Given the description of an element on the screen output the (x, y) to click on. 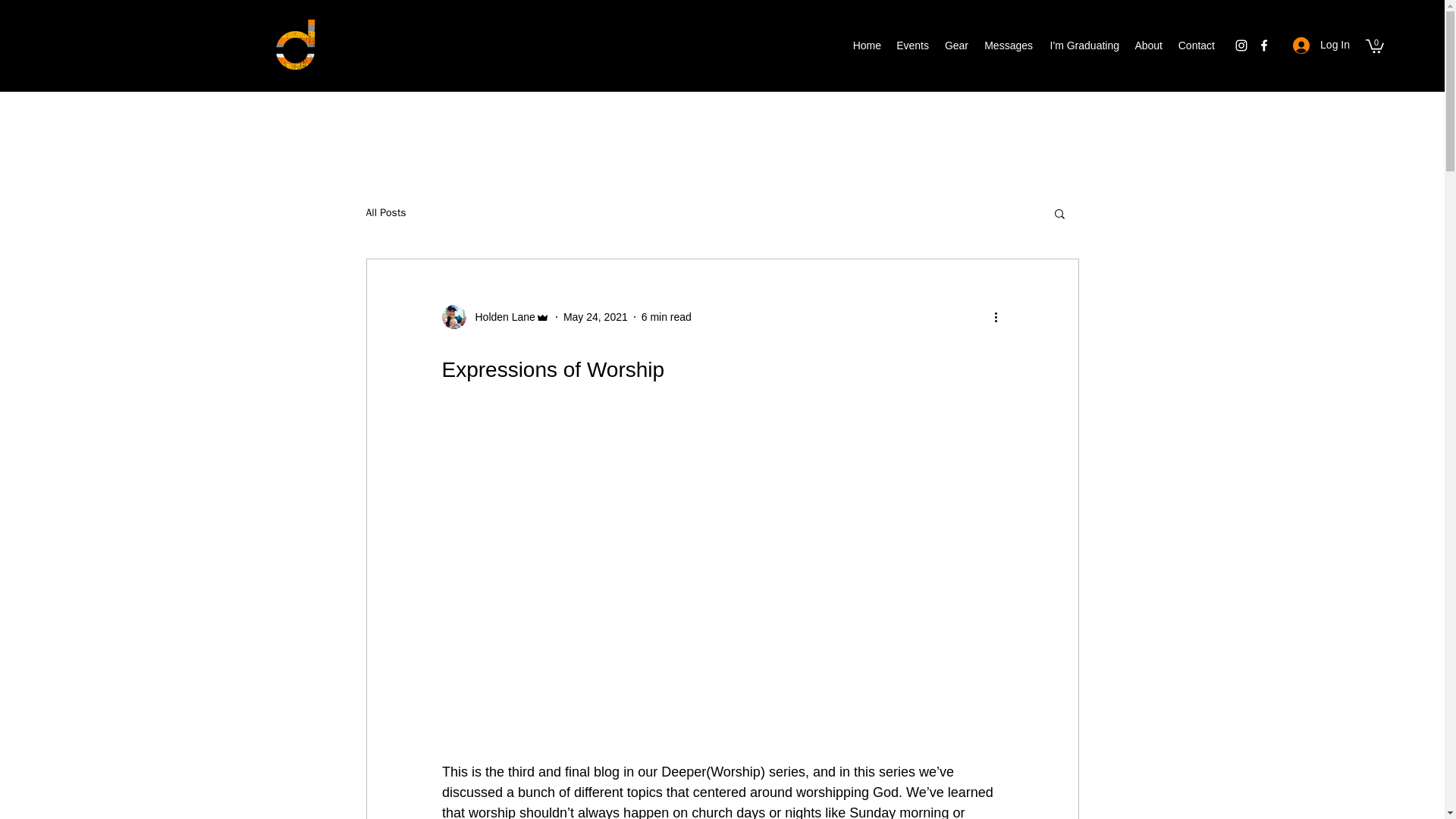
Log In (1320, 44)
Holden Lane (494, 316)
Events (912, 45)
Contact (1196, 45)
Holden Lane (499, 317)
0 (1374, 45)
All Posts (385, 213)
0 (1374, 45)
About (1148, 45)
Gear (955, 45)
